Given the description of an element on the screen output the (x, y) to click on. 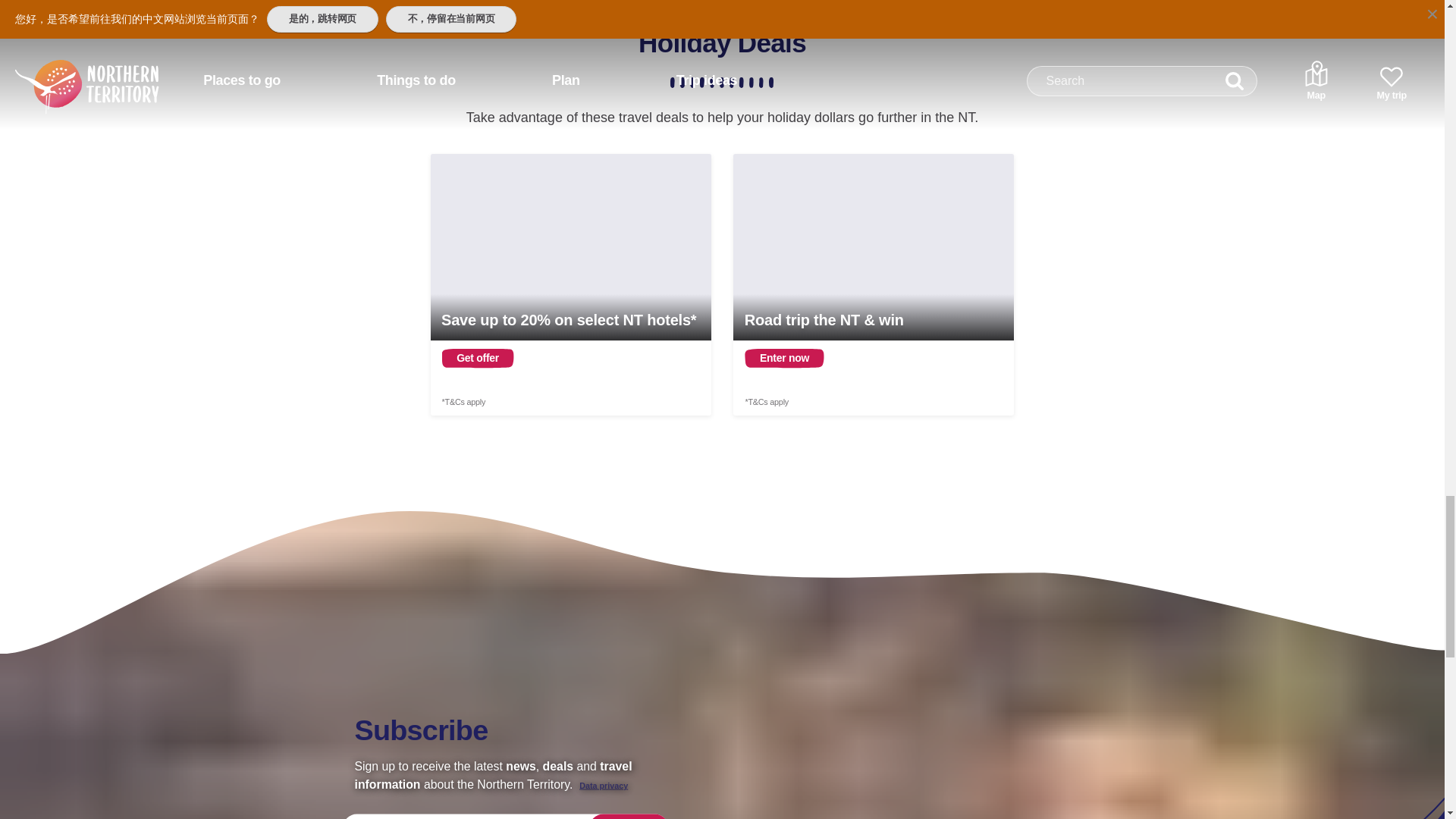
Opens in a new window (570, 284)
Opens in a new window (873, 284)
